Given the description of an element on the screen output the (x, y) to click on. 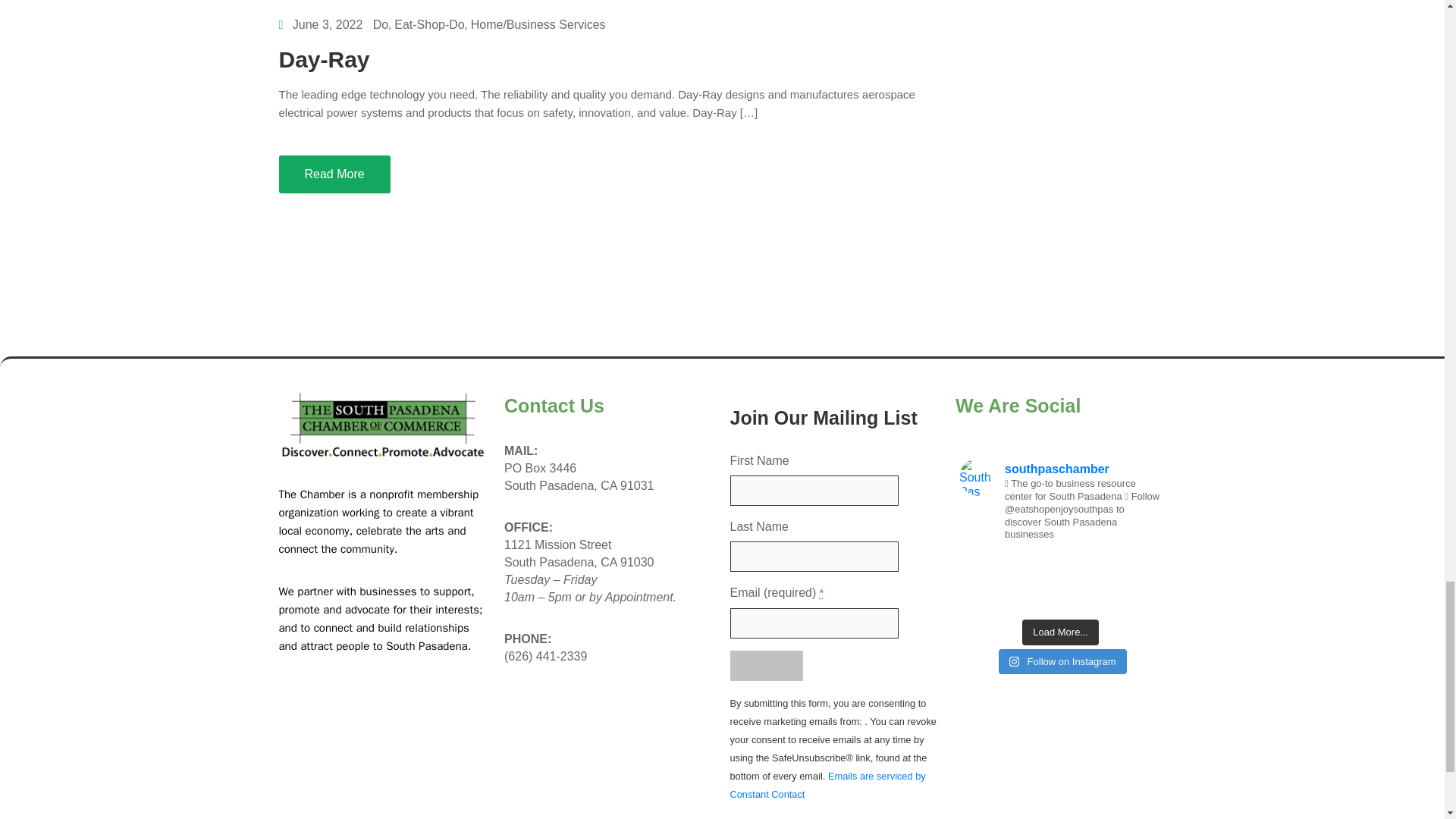
Sign up (765, 665)
Eat-Shop-Do (429, 24)
Do (380, 24)
